Given the description of an element on the screen output the (x, y) to click on. 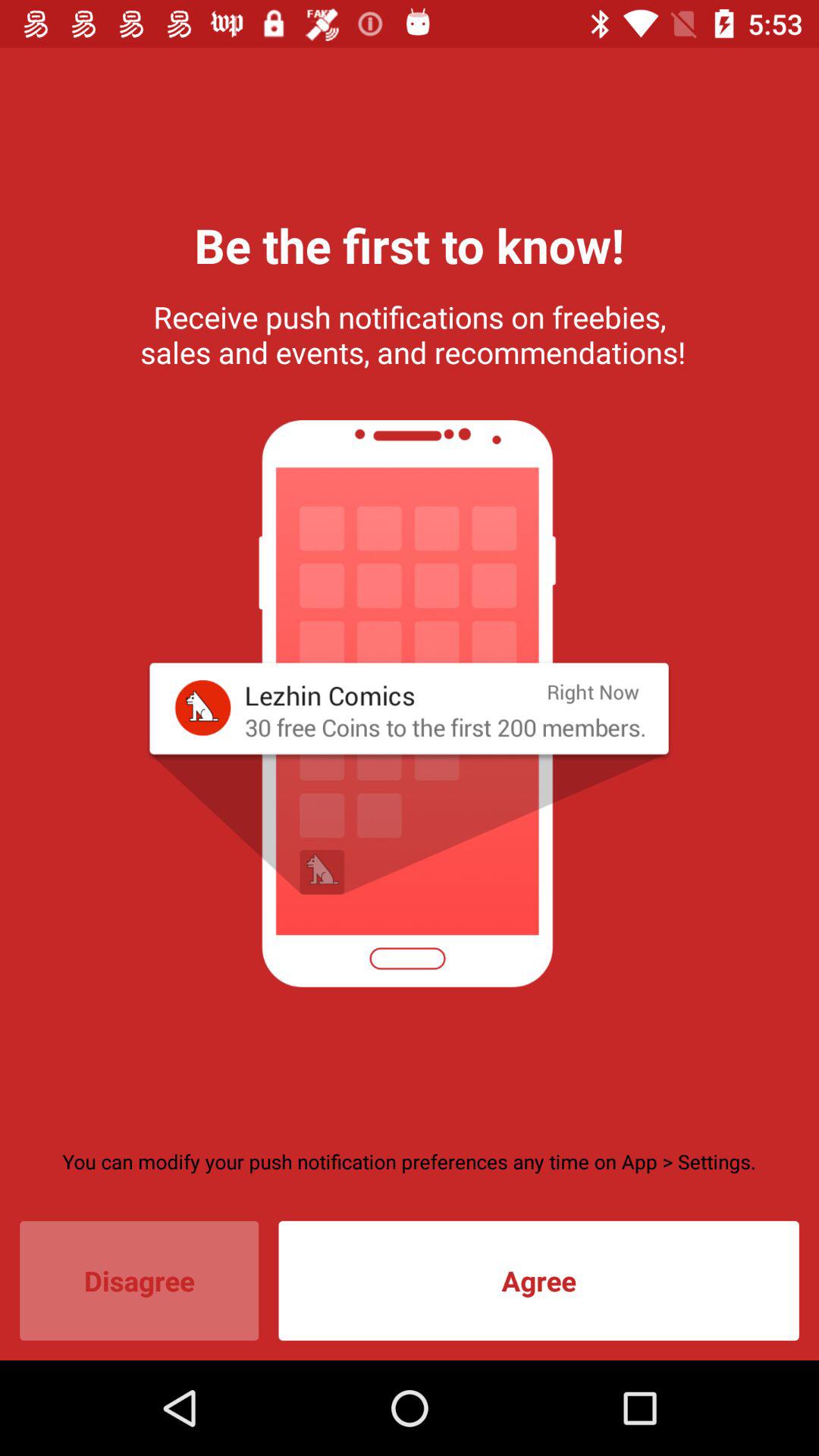
press item below the you can modify icon (138, 1280)
